Given the description of an element on the screen output the (x, y) to click on. 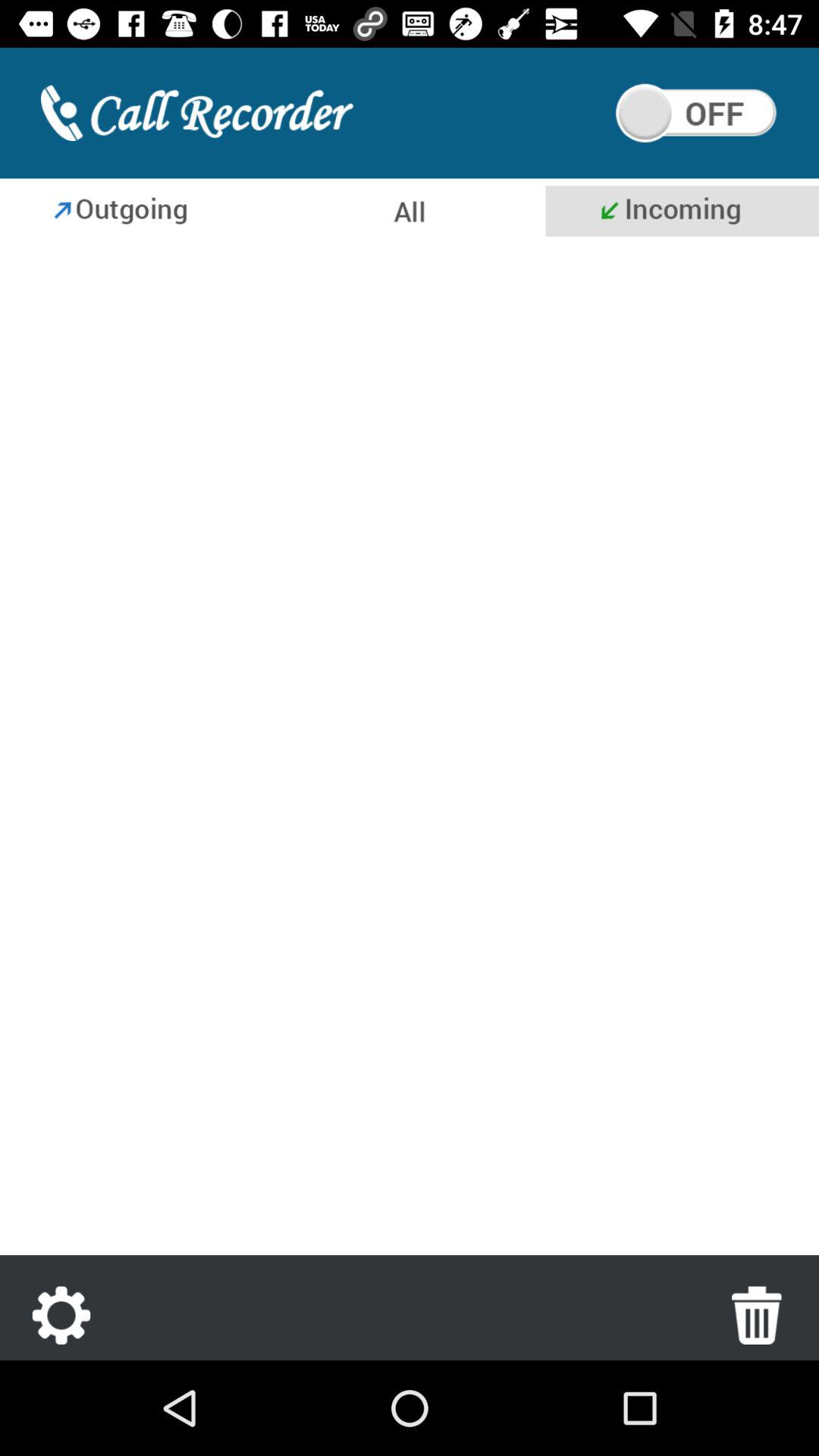
select item at the center (409, 749)
